Given the description of an element on the screen output the (x, y) to click on. 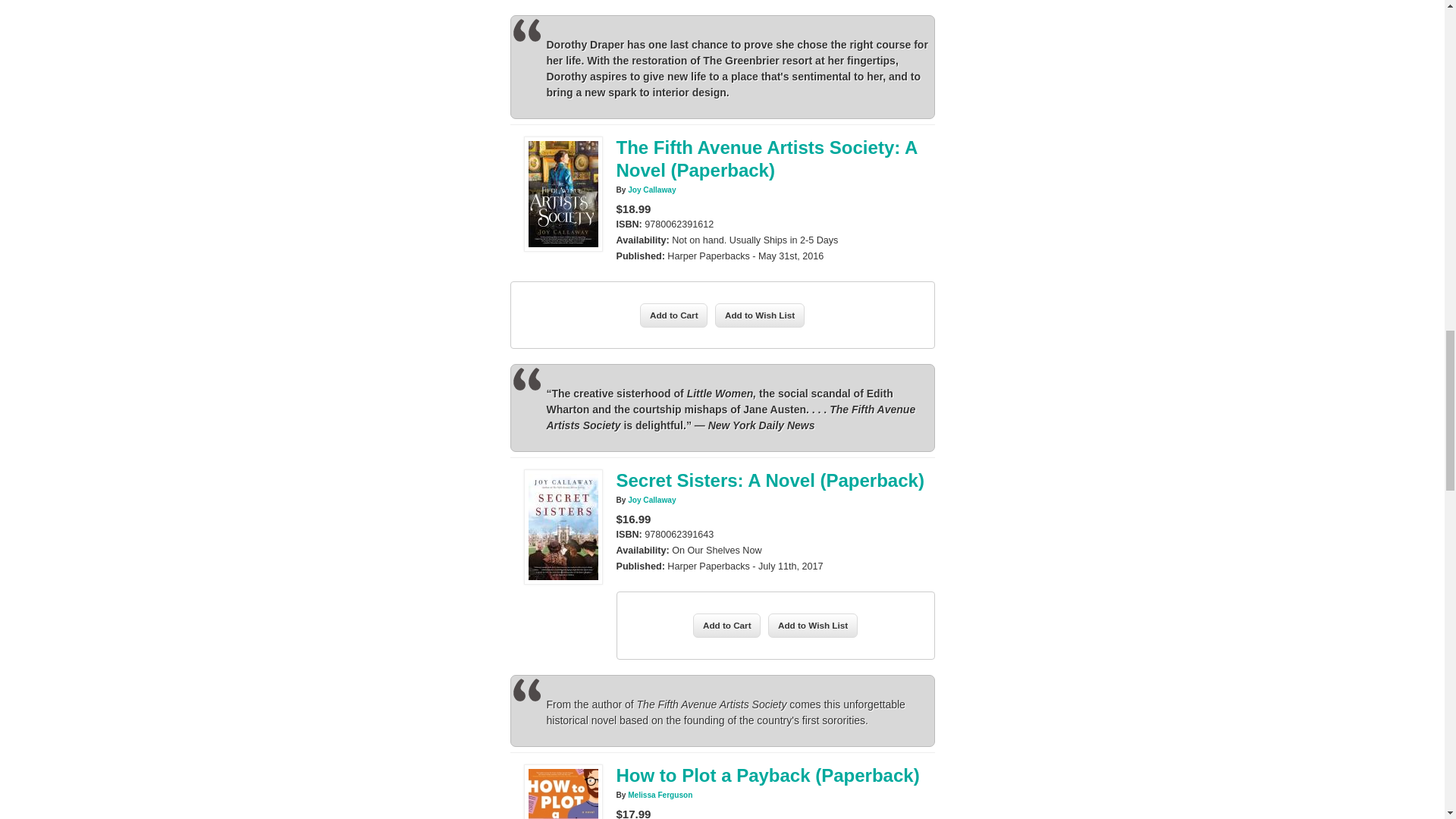
Add to Wish List (812, 625)
Joy Callaway (651, 189)
Add to Cart (673, 315)
Add to Cart (673, 315)
Add to Cart (726, 625)
Add to Wish List (759, 315)
